Given the description of an element on the screen output the (x, y) to click on. 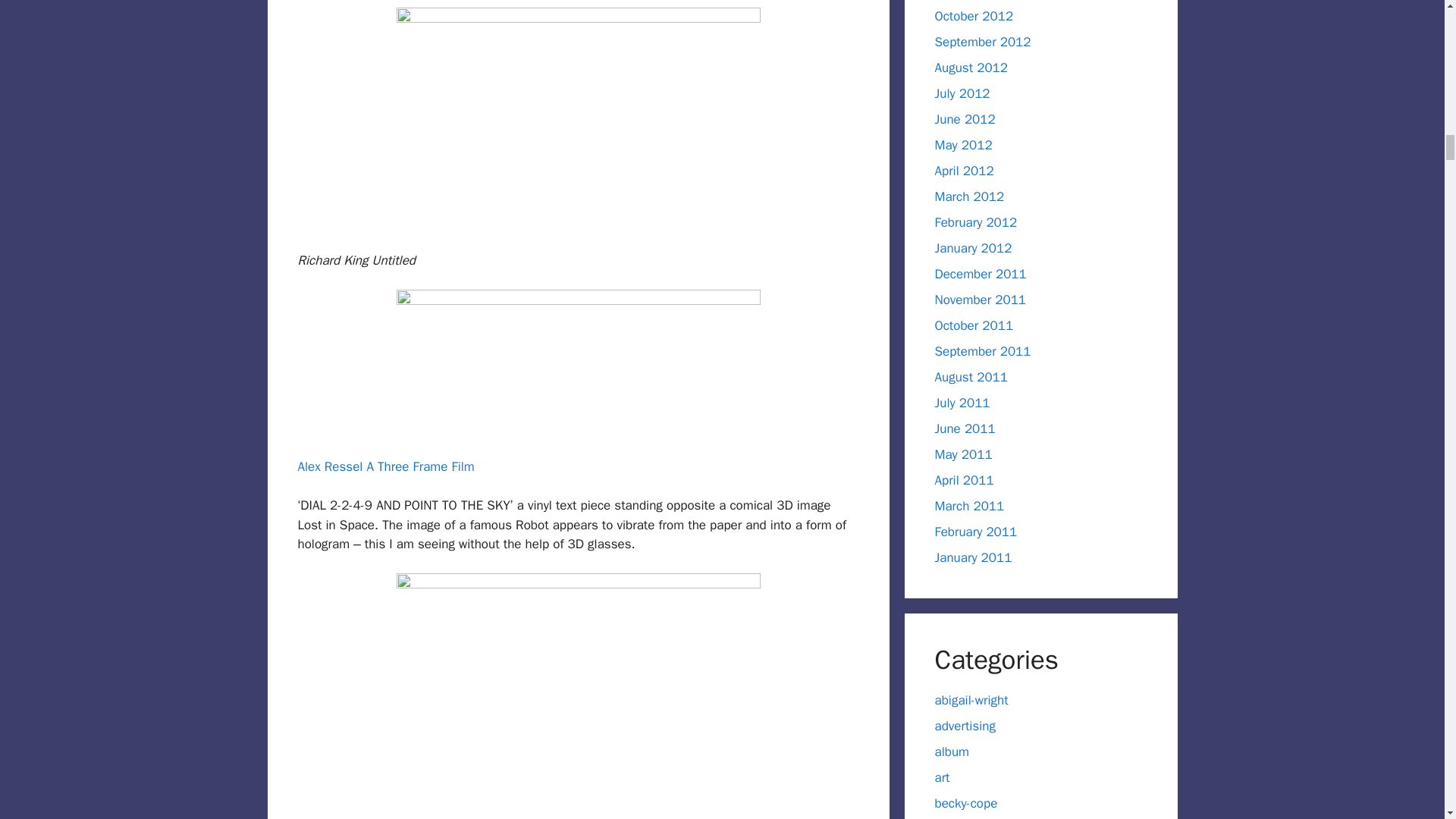
Alex Ressel A Three Frame Film (385, 466)
